Given the description of an element on the screen output the (x, y) to click on. 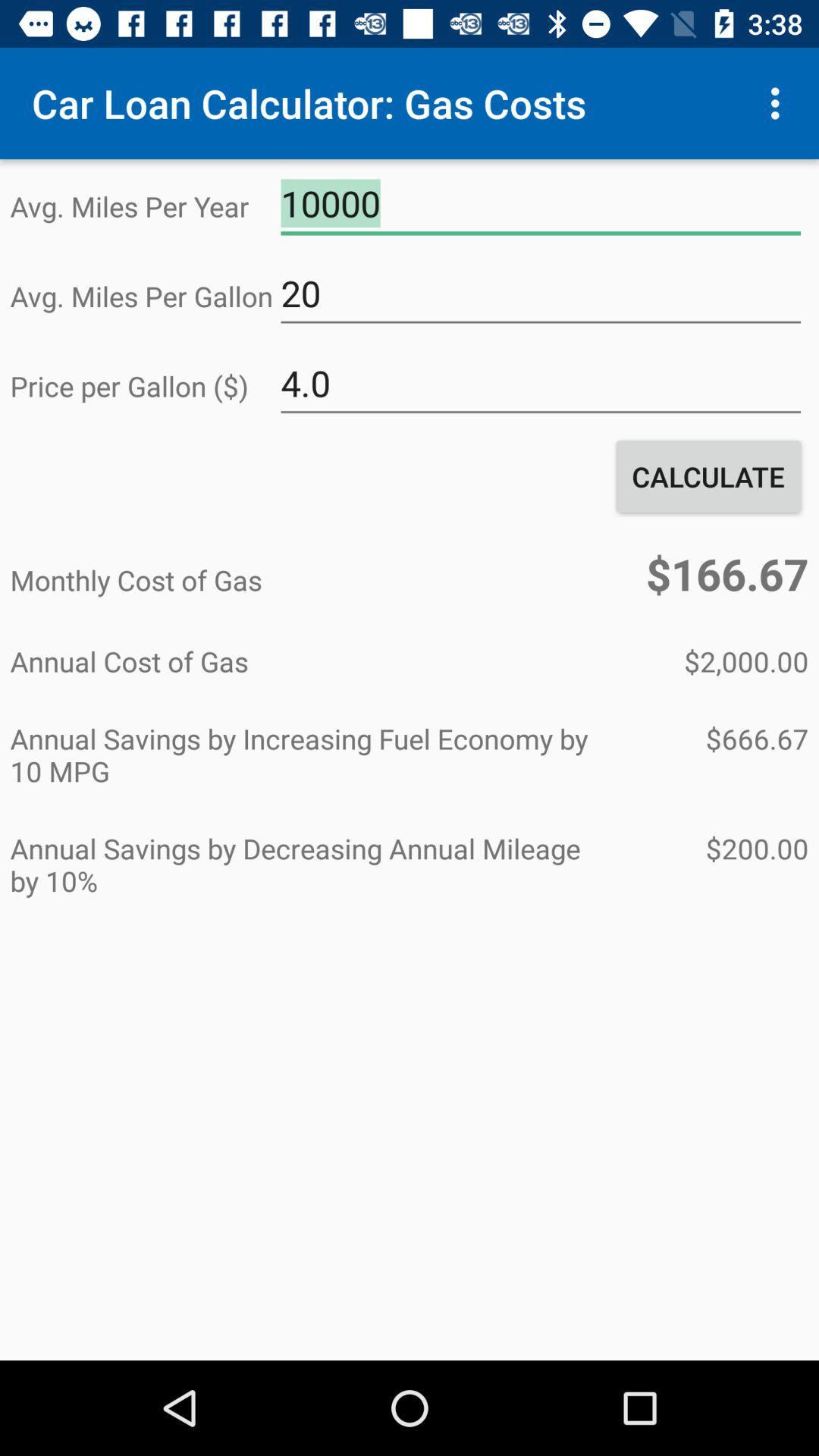
launch 4.0 icon (540, 383)
